Given the description of an element on the screen output the (x, y) to click on. 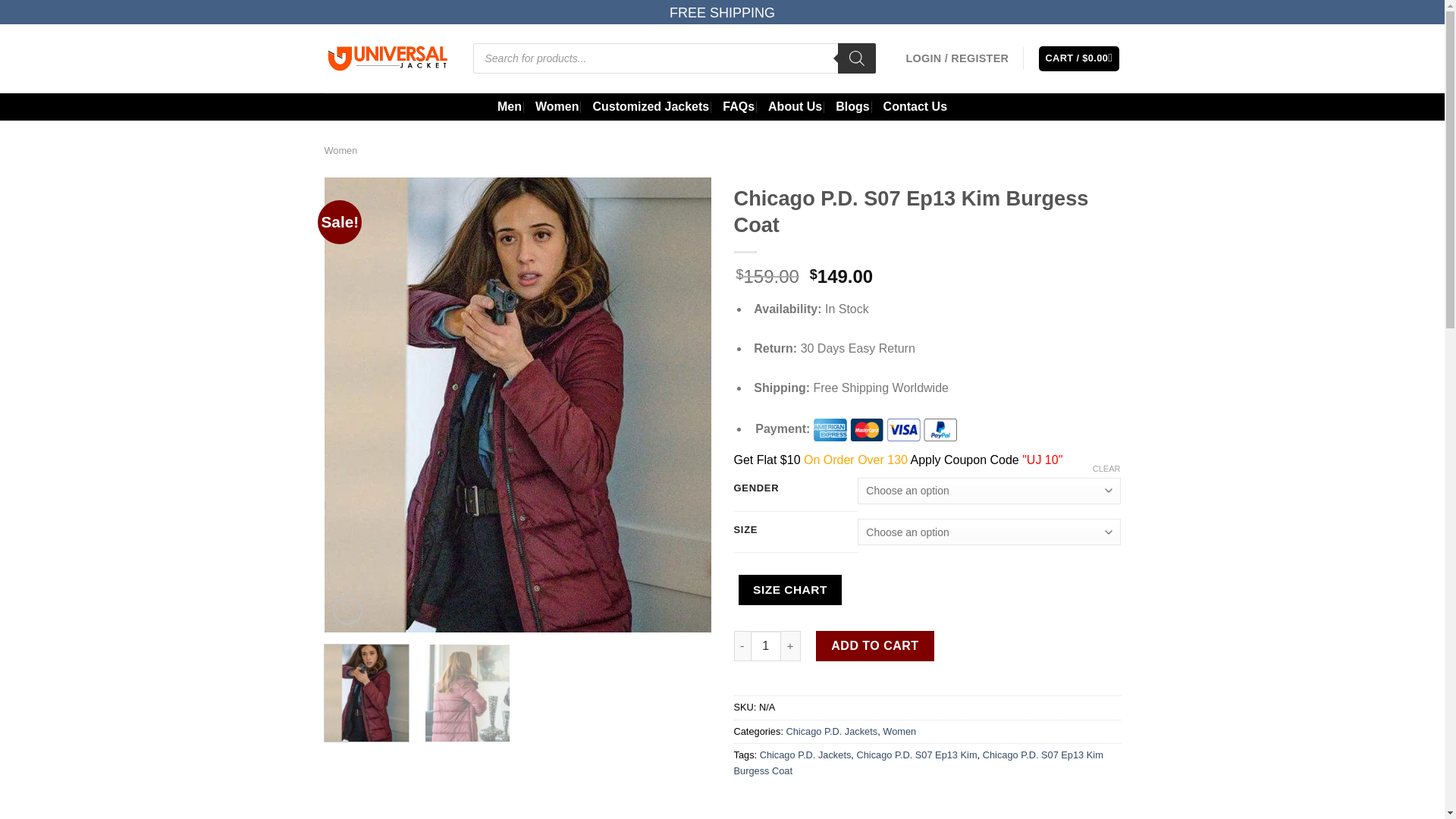
About Us (795, 106)
Chicago P.D. S07 Ep13 Kim (916, 754)
Women (341, 150)
CLEAR (1107, 468)
SIZE CHART (790, 589)
Qty (765, 645)
Cart (1079, 58)
Women (556, 106)
Women (898, 731)
ADD TO CART (874, 645)
Zoom (347, 609)
Chicago P.D. Jackets (831, 731)
Chicago P.D. Jackets (805, 754)
Contact Us (915, 106)
1 (765, 645)
